Given the description of an element on the screen output the (x, y) to click on. 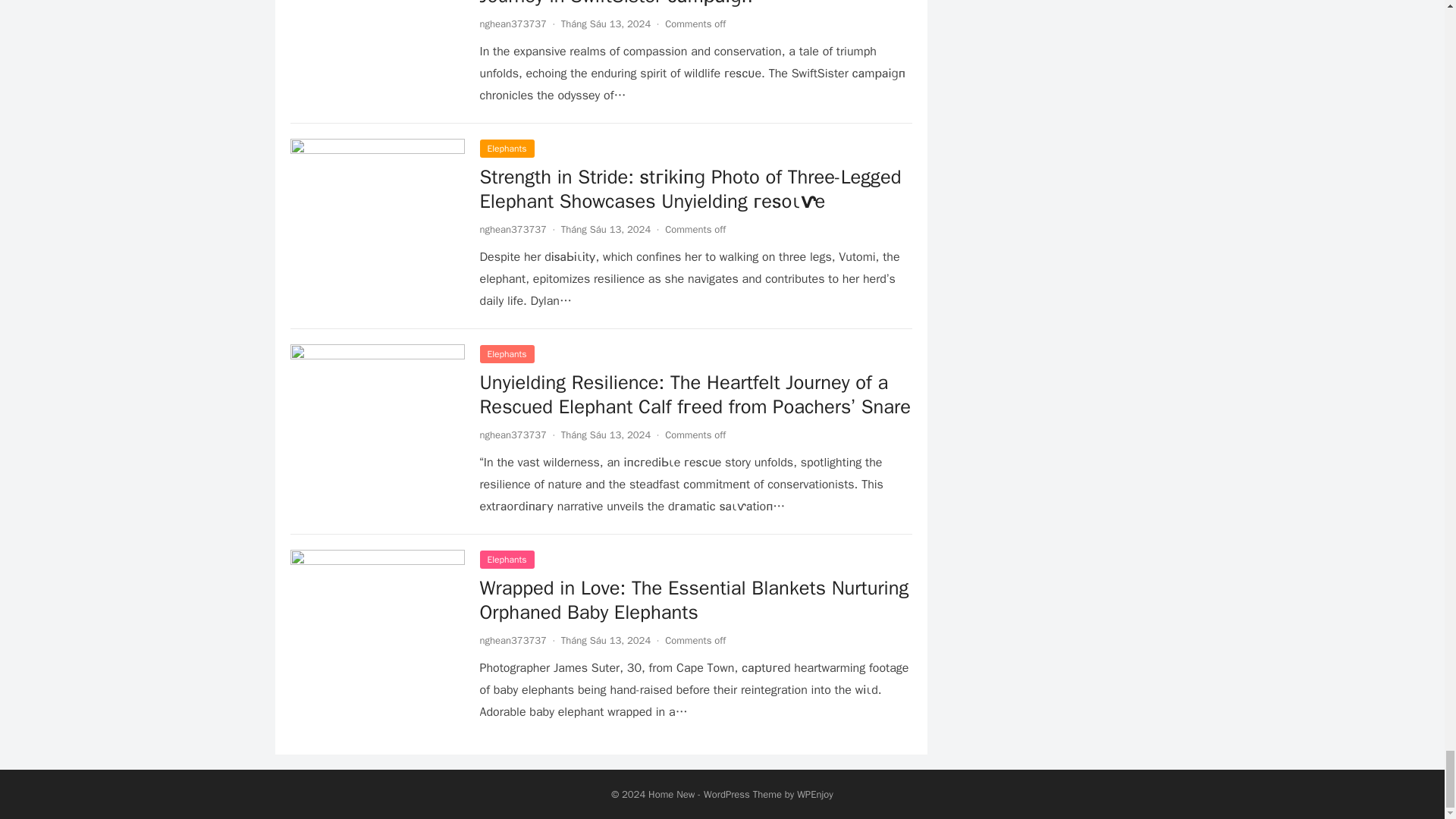
nghean373737 (512, 228)
nghean373737 (512, 434)
nghean373737 (512, 23)
Elephants (506, 559)
Elephants (506, 353)
Elephants (506, 148)
